Given the description of an element on the screen output the (x, y) to click on. 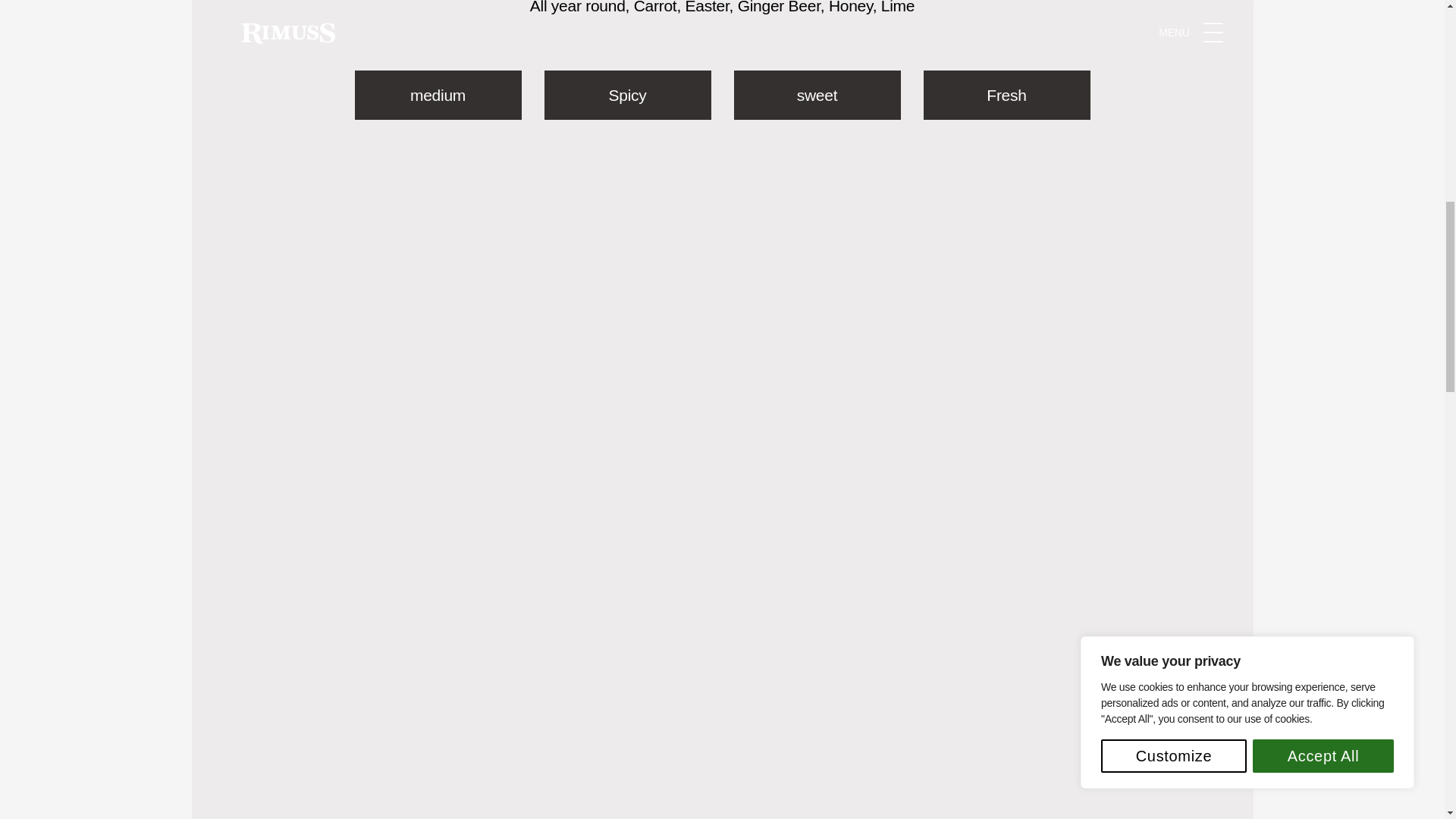
medium (438, 94)
sweet (817, 94)
Spicy (627, 94)
